Given the description of an element on the screen output the (x, y) to click on. 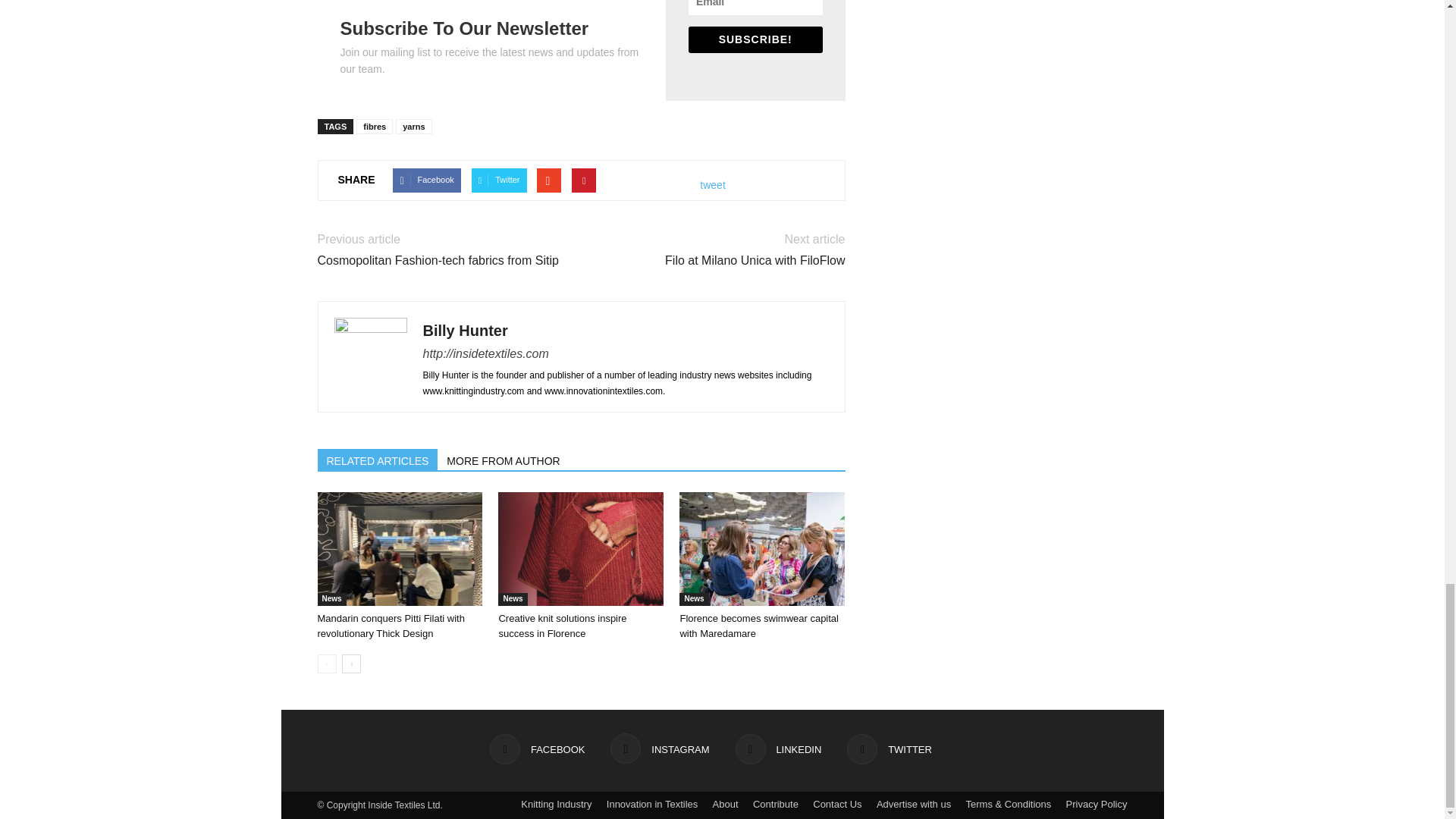
Creative knit solutions inspire success in Florence (561, 625)
Florence becomes swimwear capital with Maredamare (761, 549)
Creative knit solutions inspire success in Florence (580, 549)
